Given the description of an element on the screen output the (x, y) to click on. 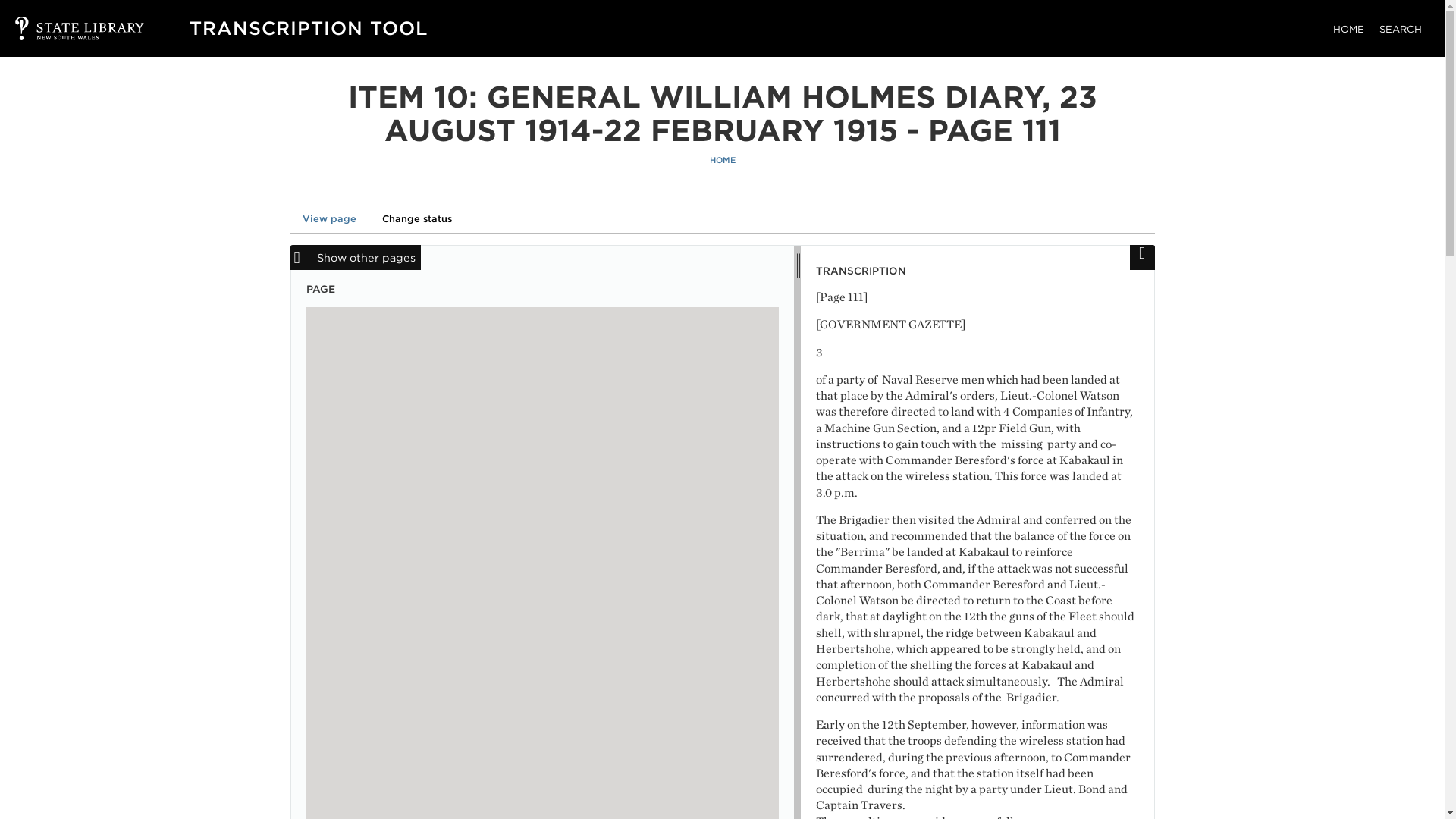
SEARCH (1400, 29)
State Library of NSW (64, 28)
Change status (416, 218)
TRANSCRIPTION TOOL (308, 27)
View page (328, 218)
HOME (722, 160)
Home (308, 27)
HOME (1348, 29)
